Given the description of an element on the screen output the (x, y) to click on. 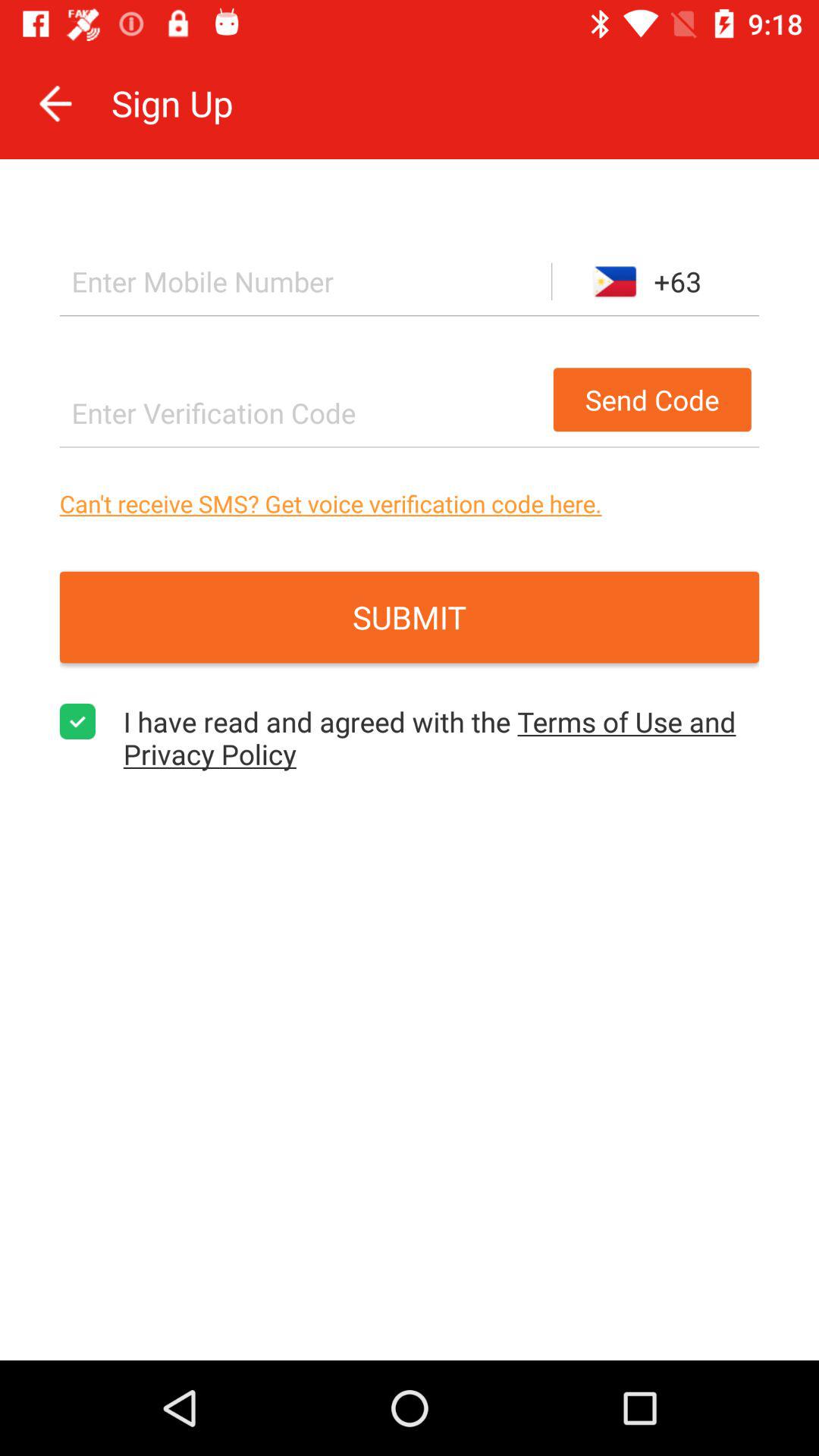
scroll to submit item (409, 617)
